Given the description of an element on the screen output the (x, y) to click on. 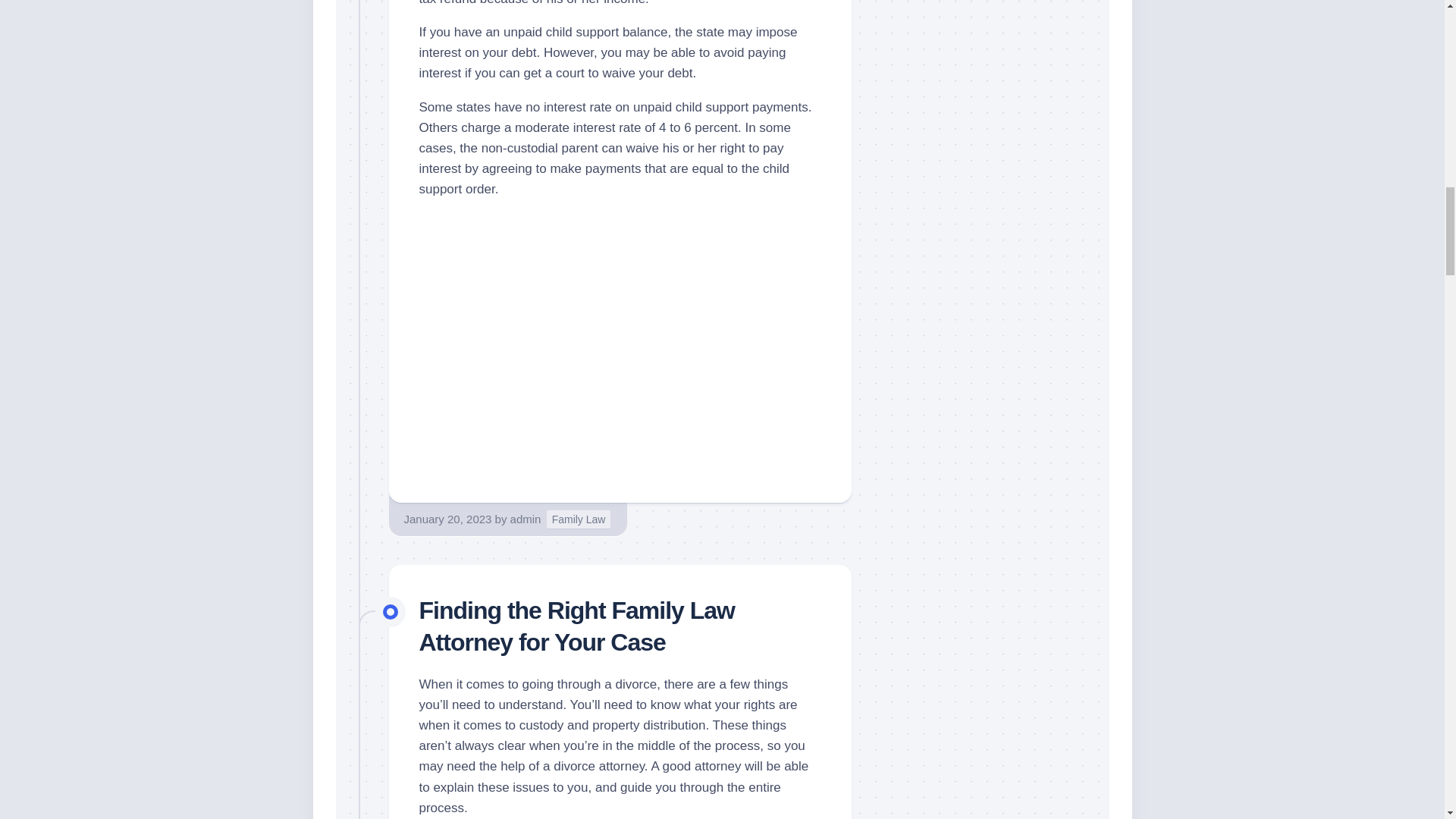
Family Law (579, 519)
Posts by admin (526, 518)
Finding the Right Family Law Attorney for Your Case (576, 626)
YouTube video player (620, 359)
admin (526, 518)
